Given the description of an element on the screen output the (x, y) to click on. 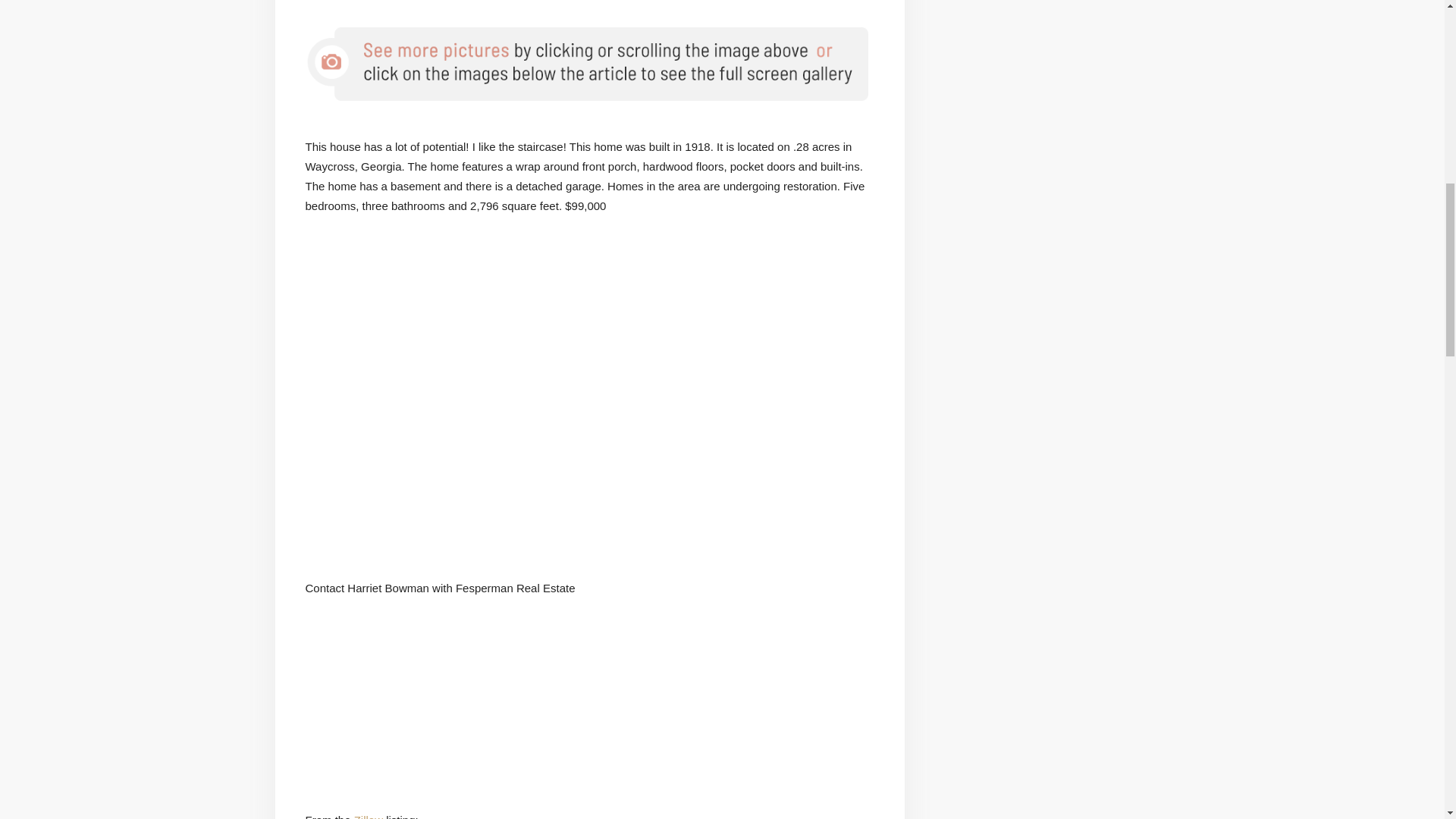
Zillow (367, 816)
